Given the description of an element on the screen output the (x, y) to click on. 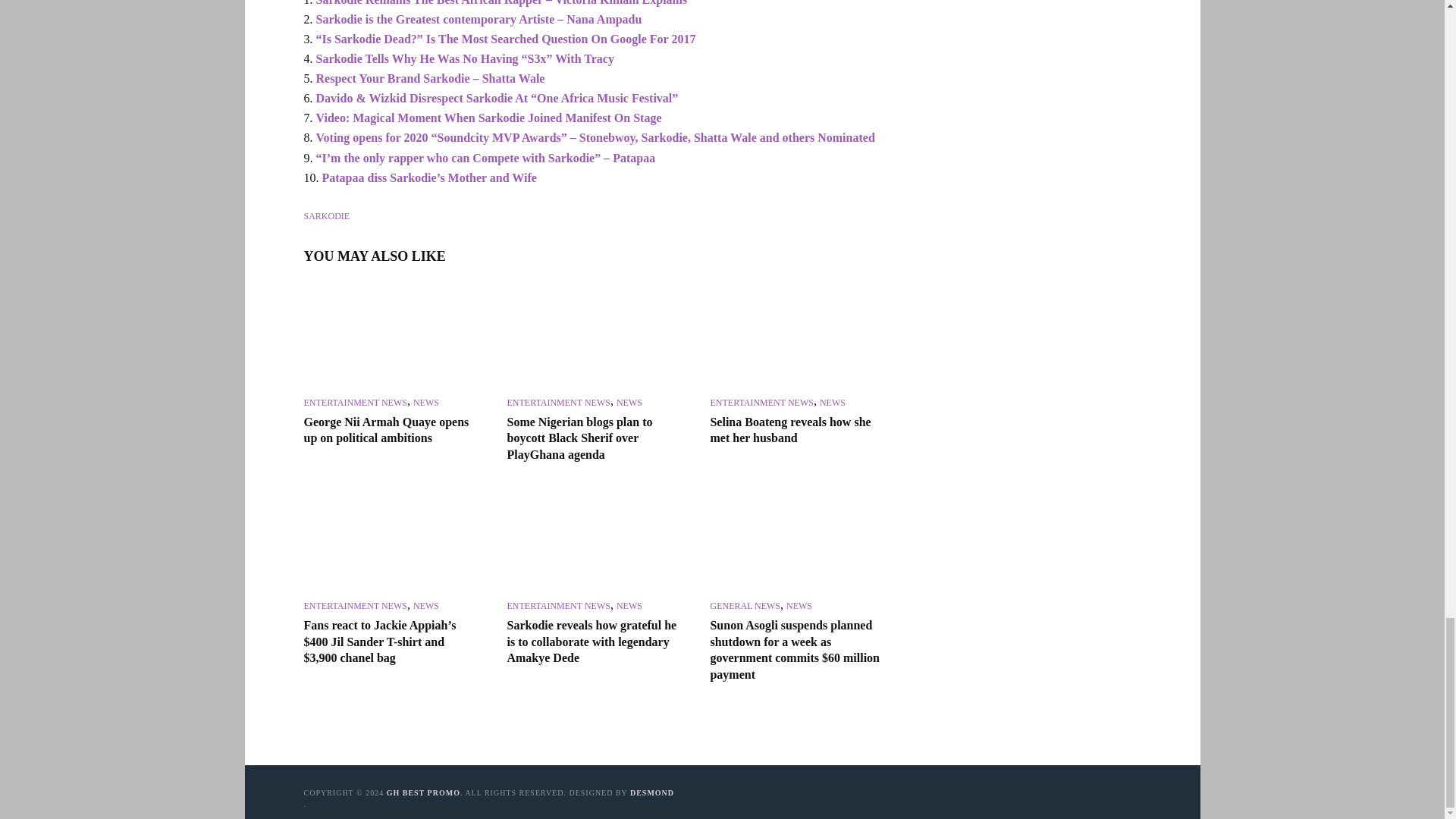
George Nii Armah Quaye opens up on political ambitions (390, 335)
Video: Magical Moment When Sarkodie Joined Manifest On Stage (488, 117)
